Given the description of an element on the screen output the (x, y) to click on. 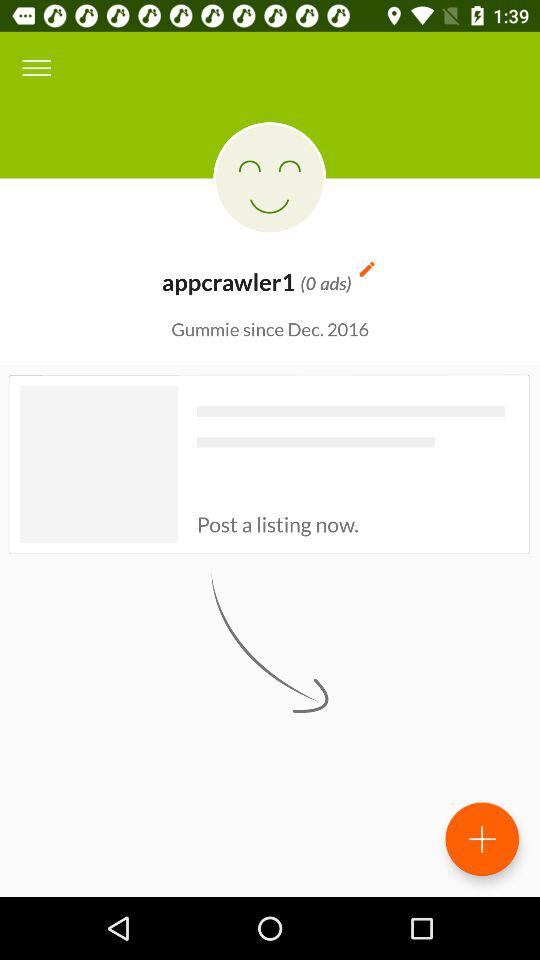
choose the icon above the appcrawler1 icon (269, 178)
